Given the description of an element on the screen output the (x, y) to click on. 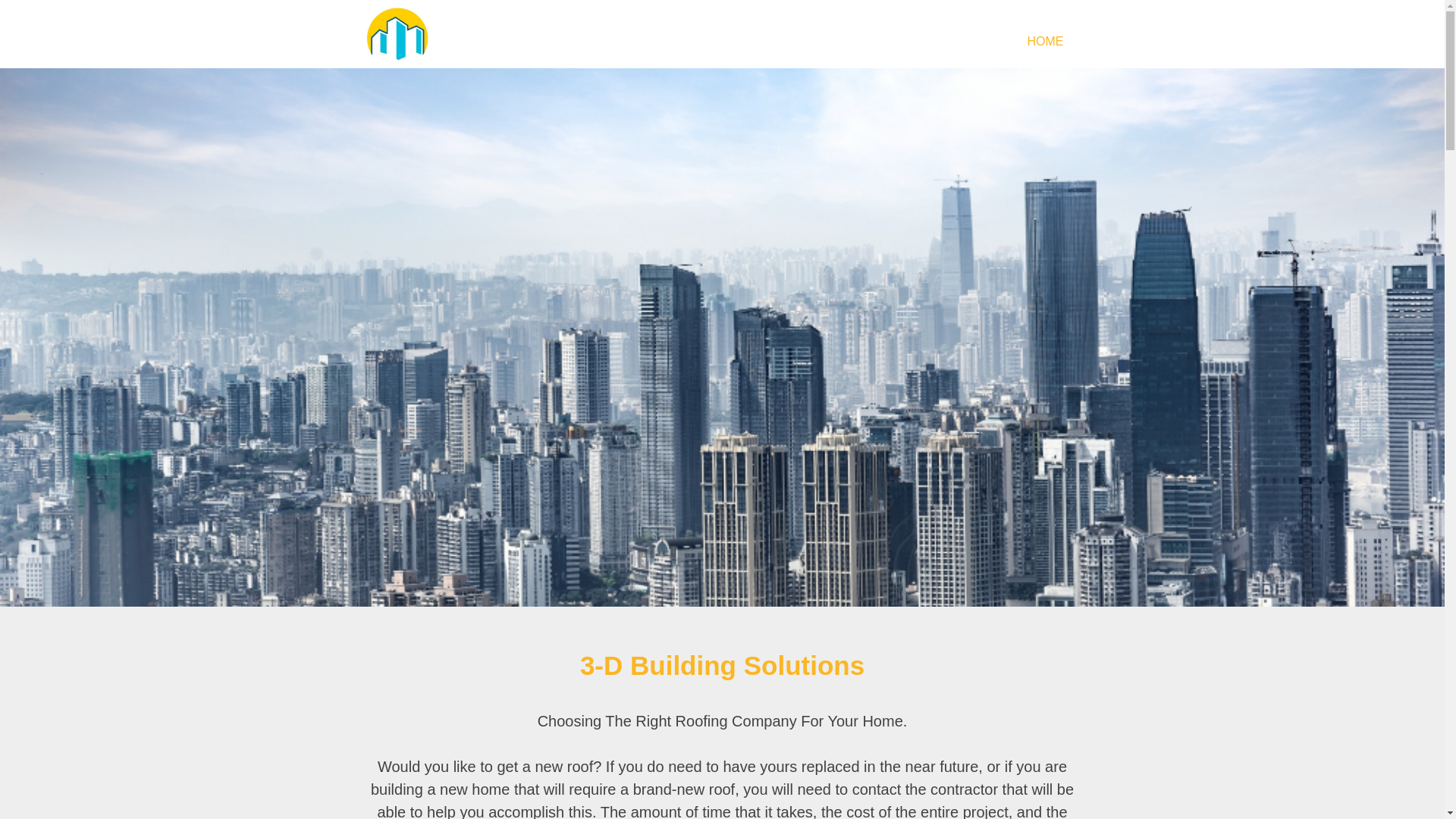
HOME Element type: text (1044, 41)
